Given the description of an element on the screen output the (x, y) to click on. 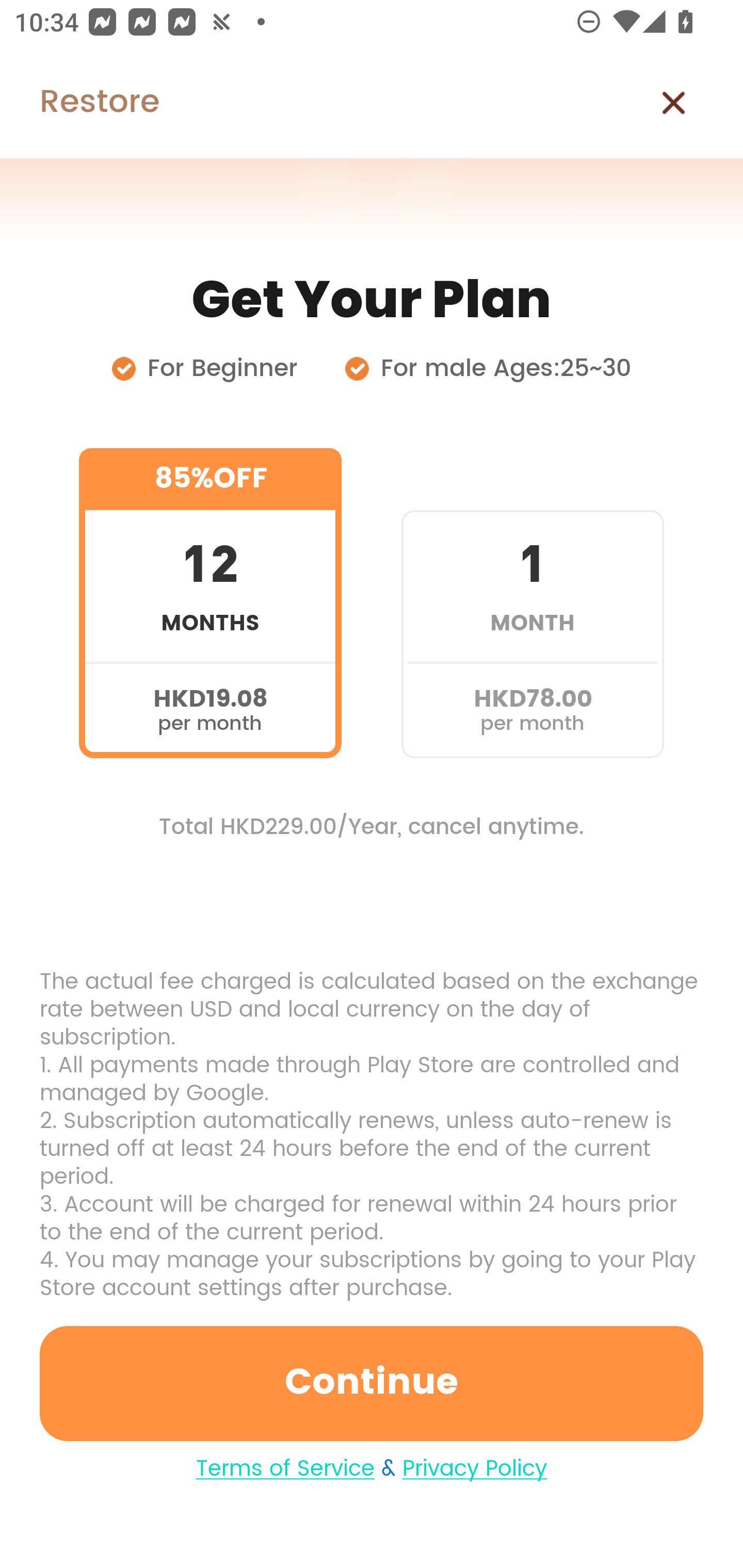
Restore (79, 102)
85%OFF 12 MONTHS per month HKD19.08 (209, 603)
1 MONTH per month HKD78.00 (532, 603)
Continue (371, 1383)
